Given the description of an element on the screen output the (x, y) to click on. 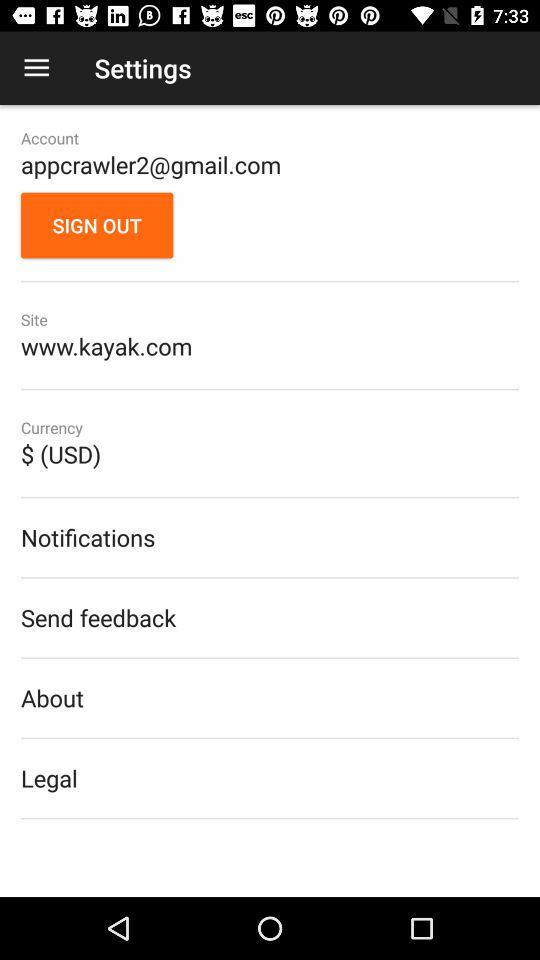
open the sign out (97, 225)
